Given the description of an element on the screen output the (x, y) to click on. 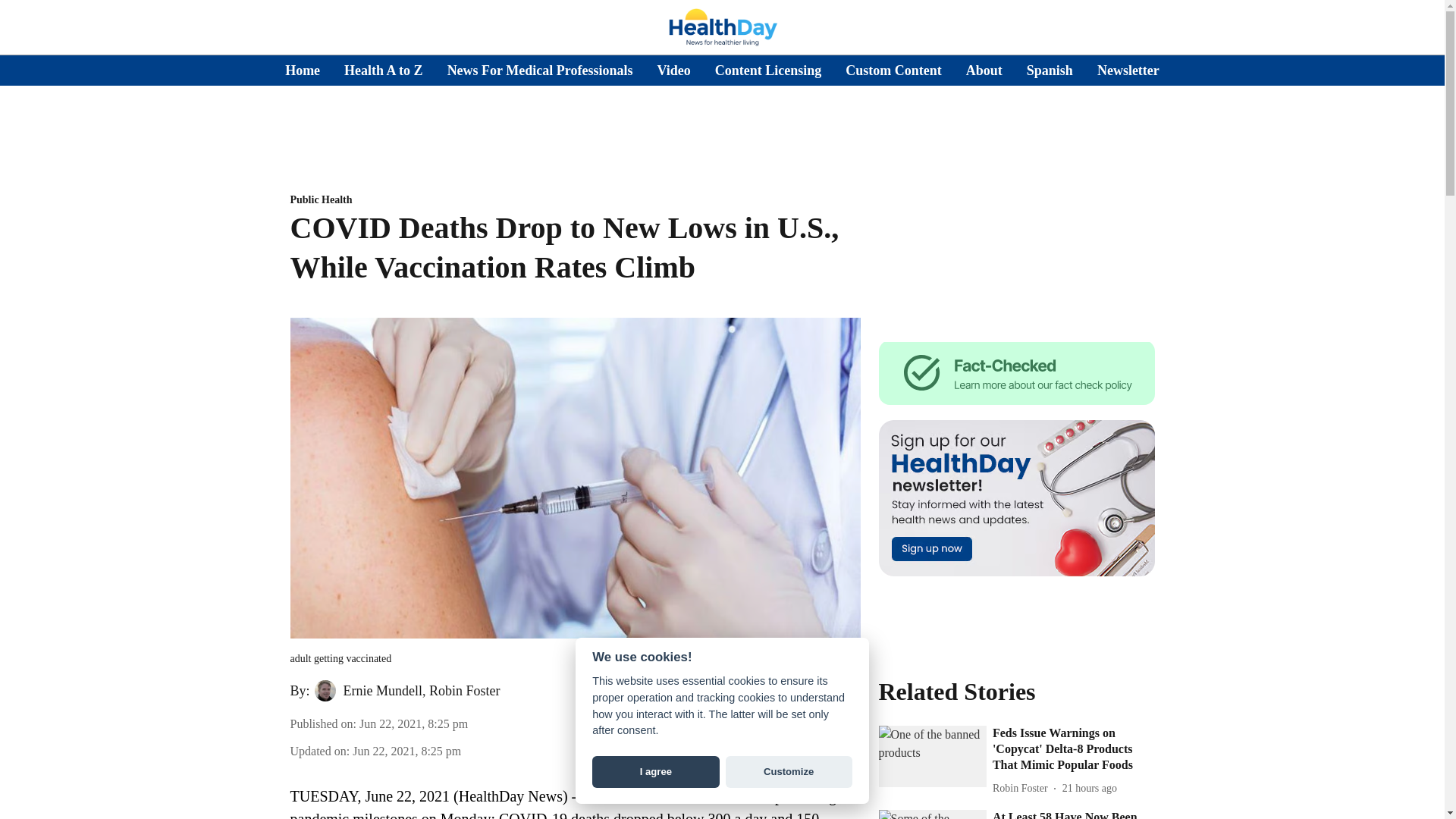
Health A to Z (383, 70)
2021-06-22 12:25 (406, 750)
2021-06-22 12:25 (413, 723)
Home (302, 70)
2024-07-17 11:41 (1089, 788)
